Given the description of an element on the screen output the (x, y) to click on. 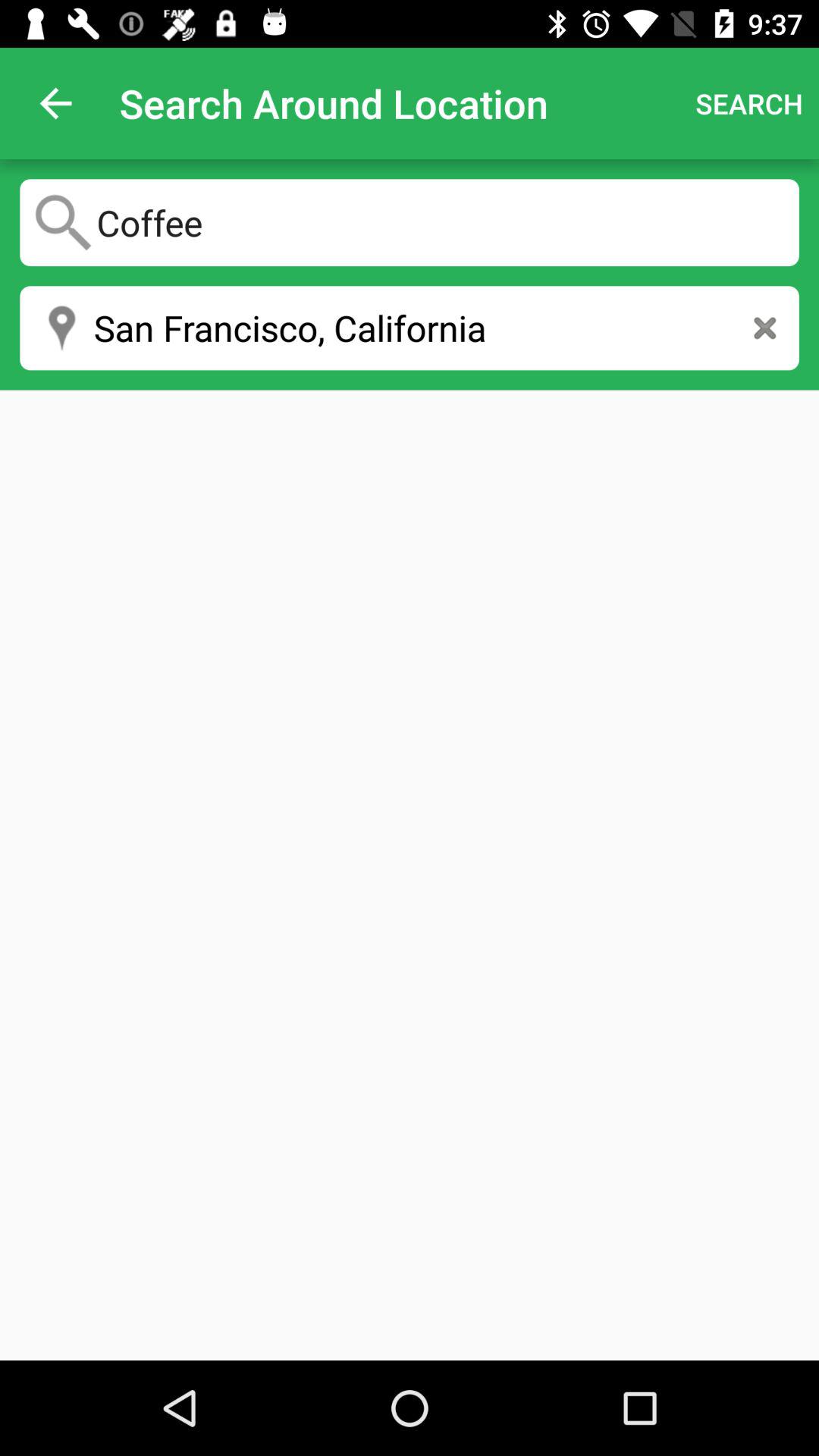
choose item at the center (409, 875)
